Given the description of an element on the screen output the (x, y) to click on. 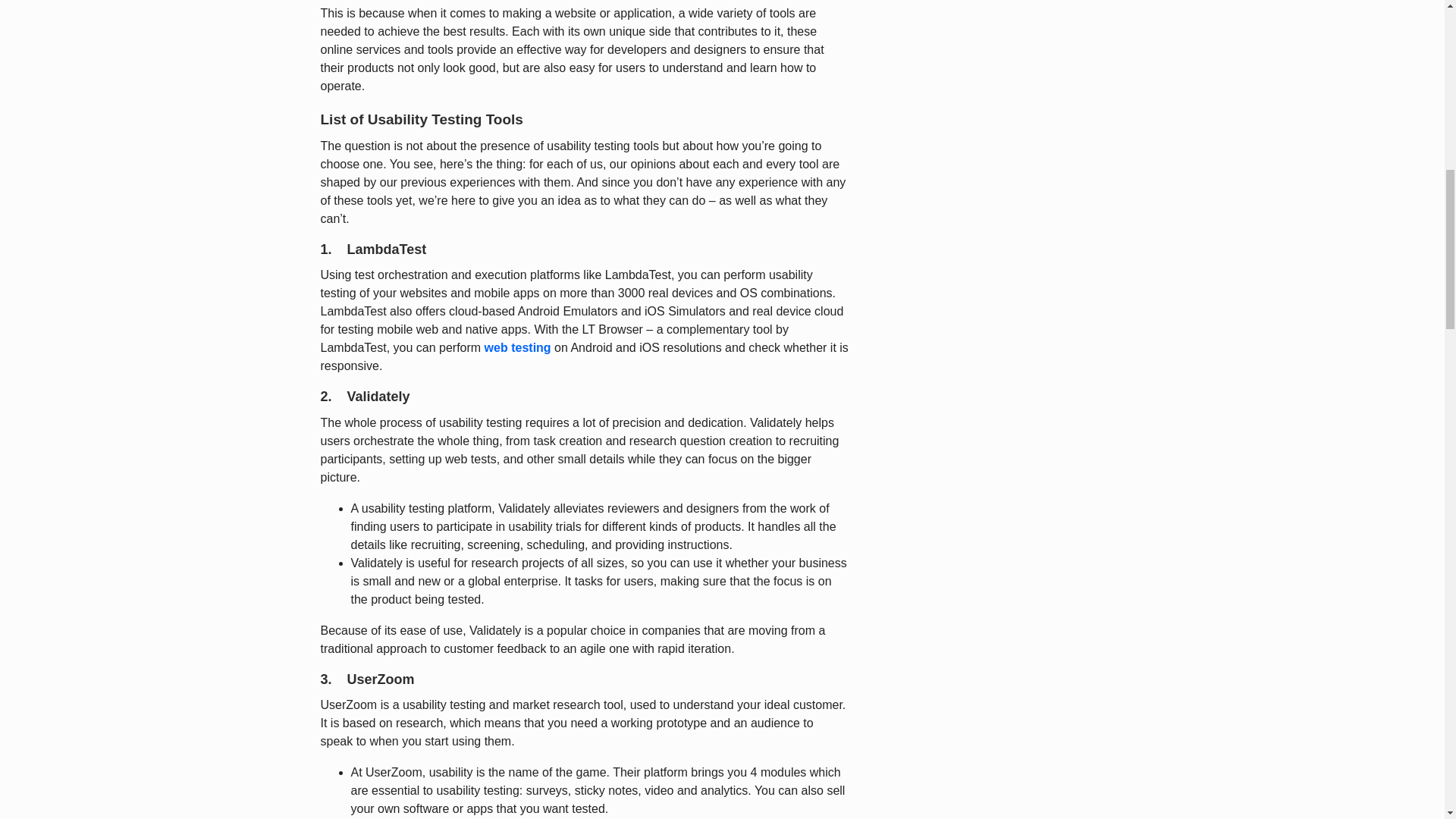
web testing (517, 347)
